Given the description of an element on the screen output the (x, y) to click on. 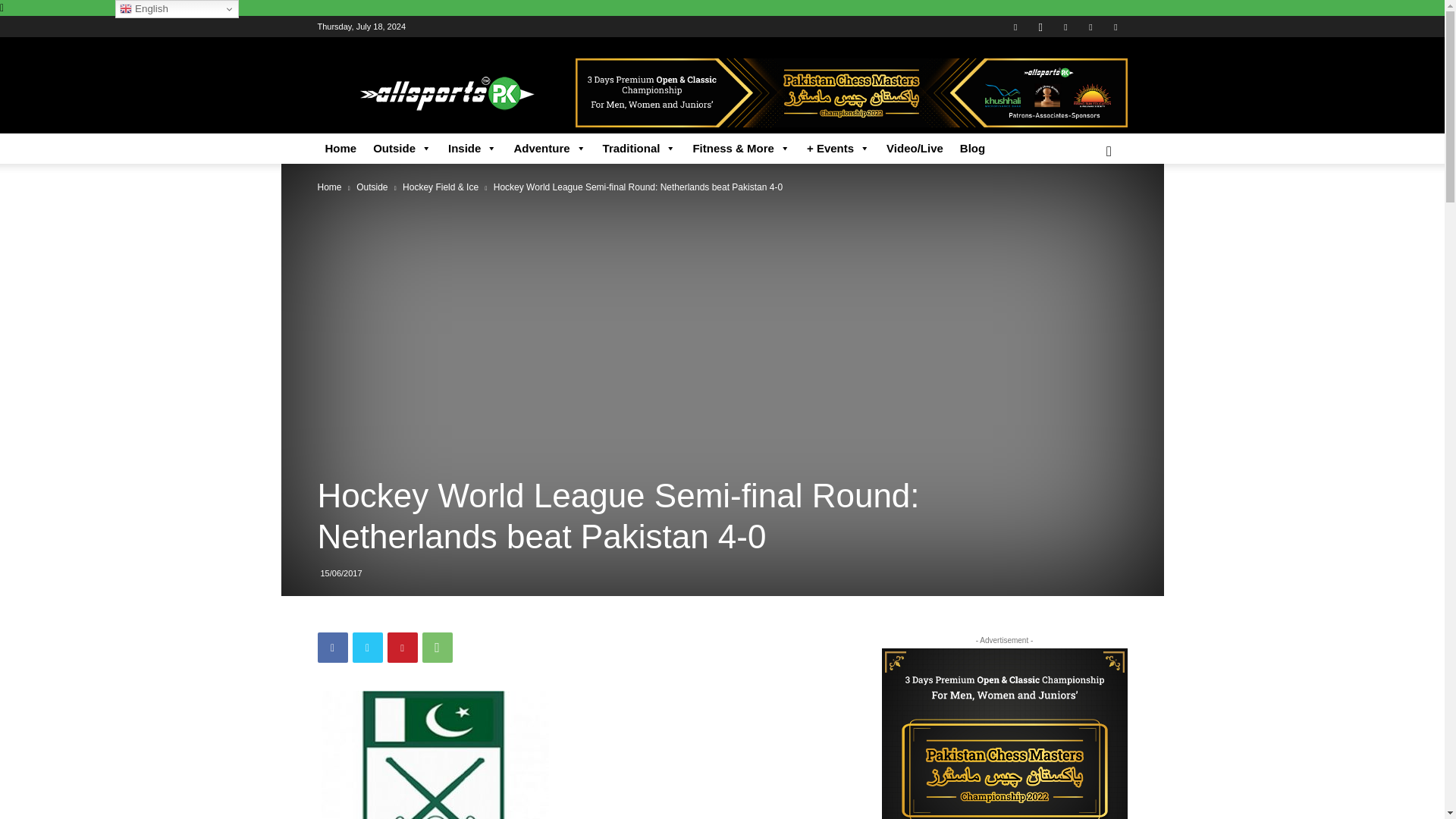
Facebook (332, 647)
View all posts in Outside (371, 186)
Pinterest (401, 647)
Youtube (1114, 25)
Twitter (1090, 25)
Instagram (1040, 25)
Linkedin (1065, 25)
Twitter (366, 647)
Facebook (1015, 25)
